Given the description of an element on the screen output the (x, y) to click on. 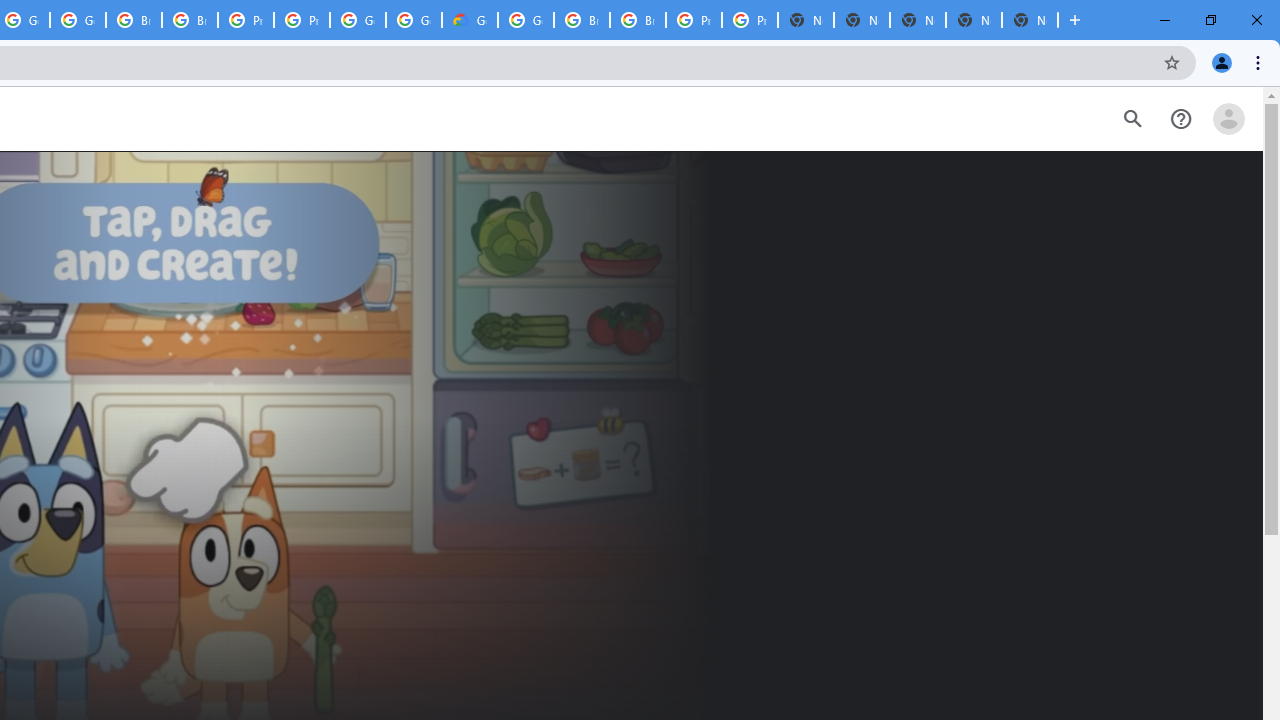
Browse Chrome as a guest - Computer - Google Chrome Help (582, 20)
Google Cloud Platform (358, 20)
